Given the description of an element on the screen output the (x, y) to click on. 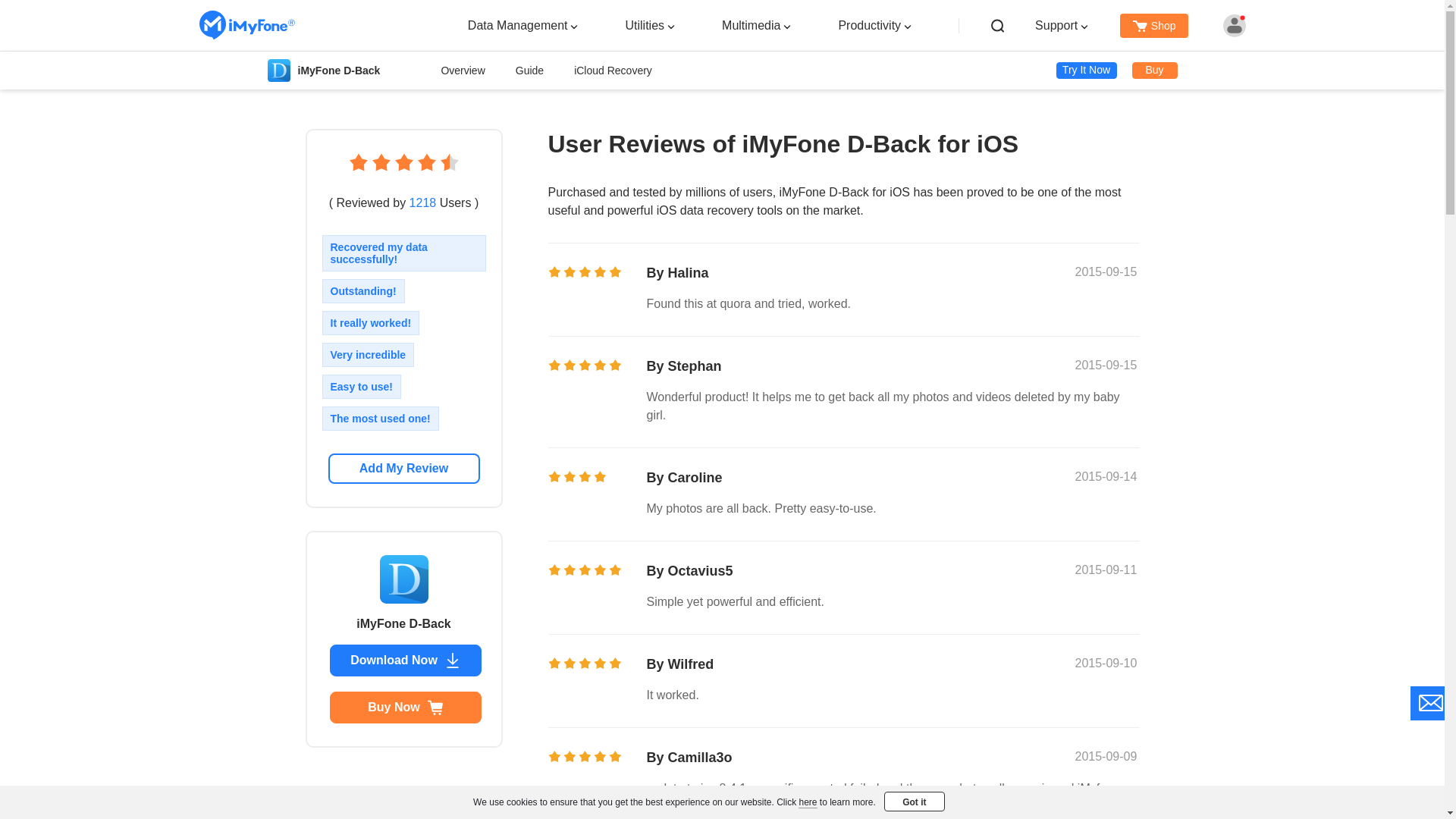
Utilities (643, 24)
Multimedia (751, 24)
Data Management (517, 24)
